Given the description of an element on the screen output the (x, y) to click on. 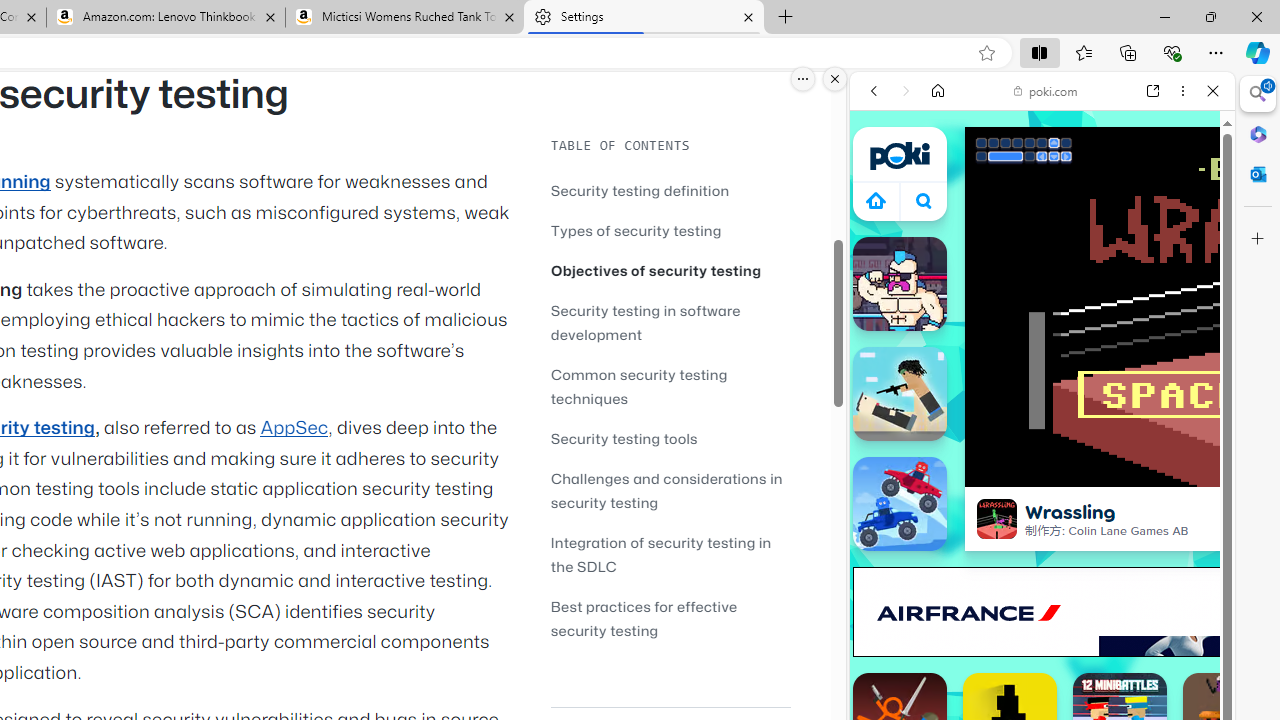
Rowdy Wrestling (899, 283)
Best practices for effective security testing (644, 618)
Show More Two Player Games (1164, 570)
More options. (803, 79)
Io Games (1042, 617)
Security testing tools (623, 438)
Objectives of security testing (670, 269)
